Given the description of an element on the screen output the (x, y) to click on. 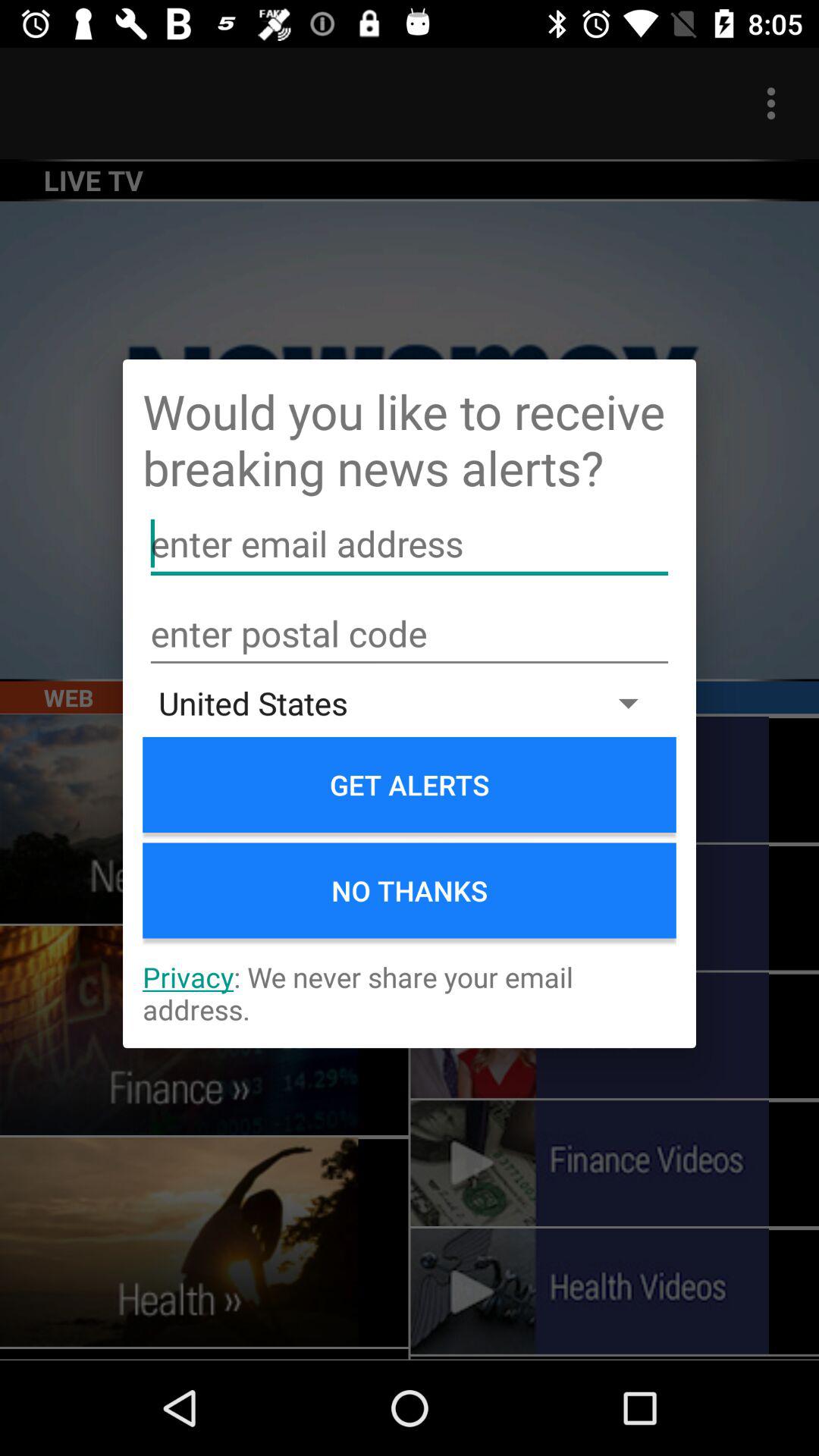
enters email address (409, 544)
